Given the description of an element on the screen output the (x, y) to click on. 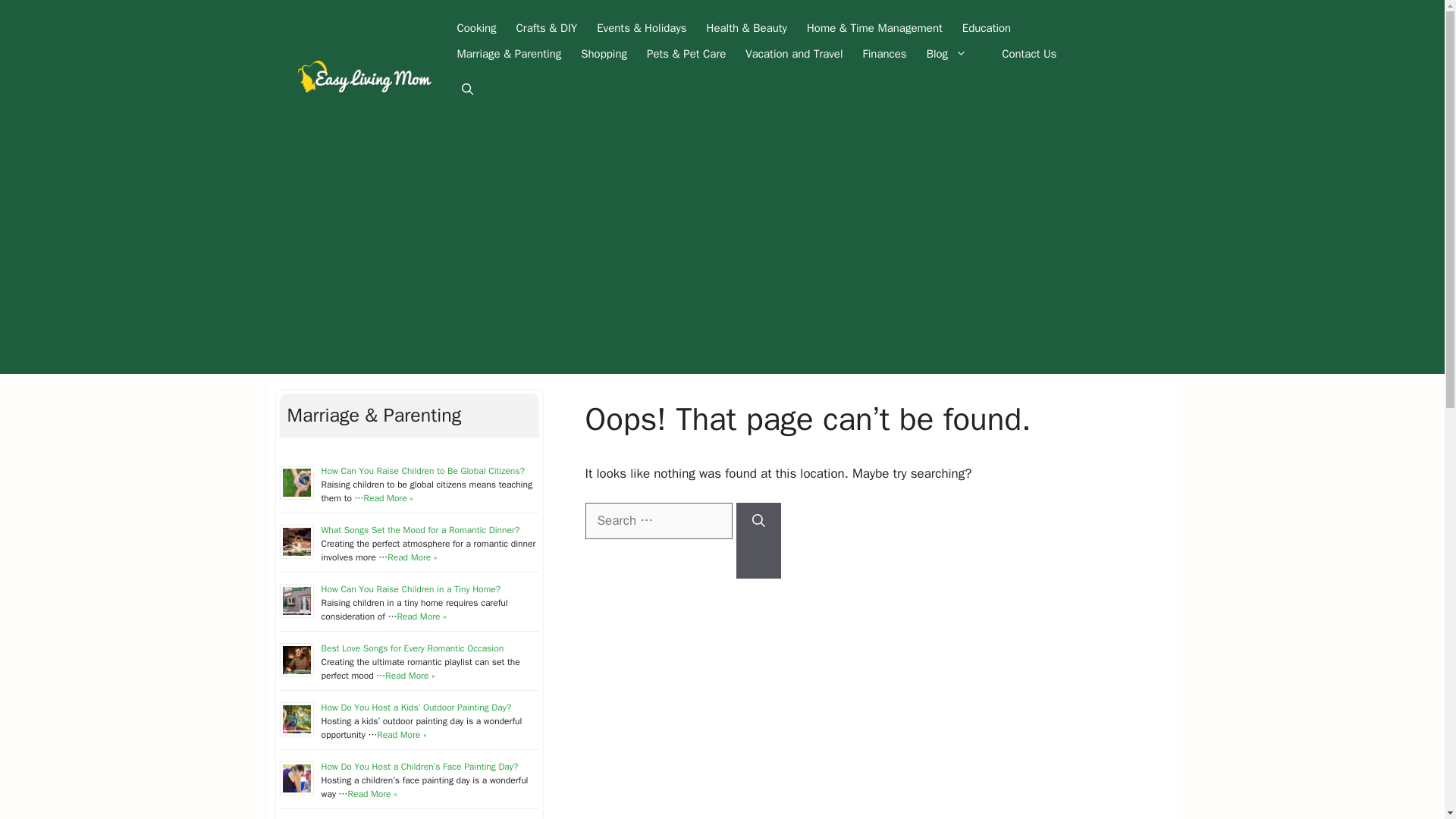
Education (986, 27)
Vacation and Travel (793, 53)
Shopping (603, 53)
Blog (954, 53)
Finances (885, 53)
Cooking (475, 27)
Search for: (658, 520)
